Given the description of an element on the screen output the (x, y) to click on. 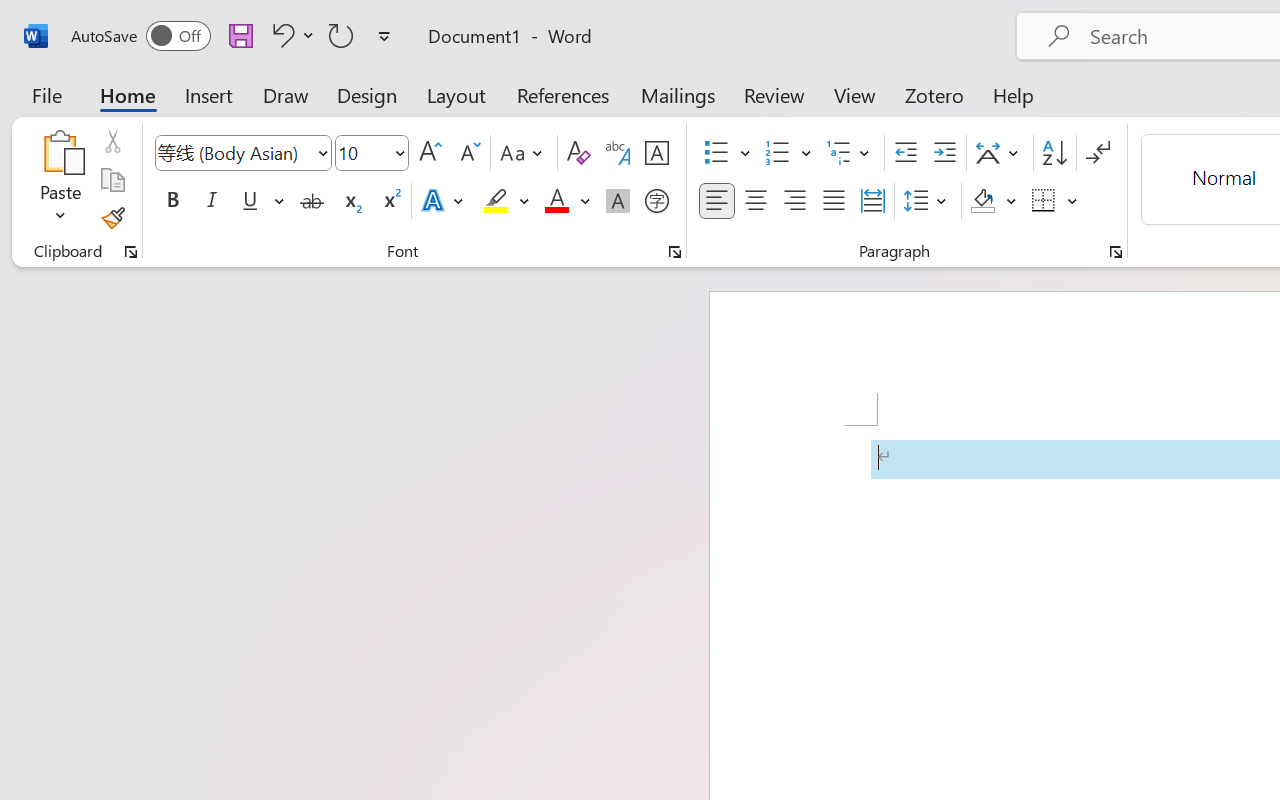
Repeat Style (341, 35)
